Given the description of an element on the screen output the (x, y) to click on. 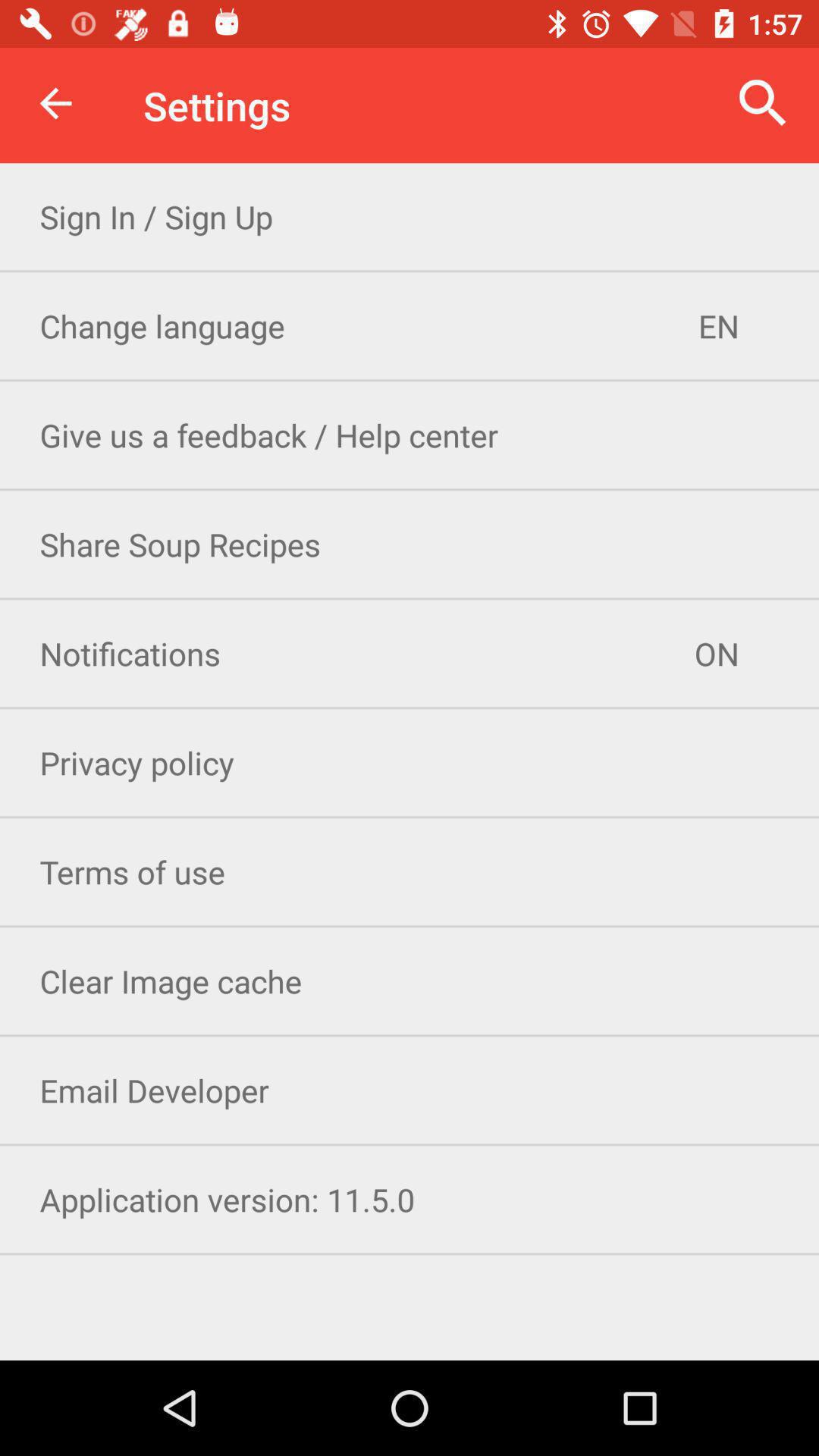
turn on item next to the settings icon (763, 103)
